Given the description of an element on the screen output the (x, y) to click on. 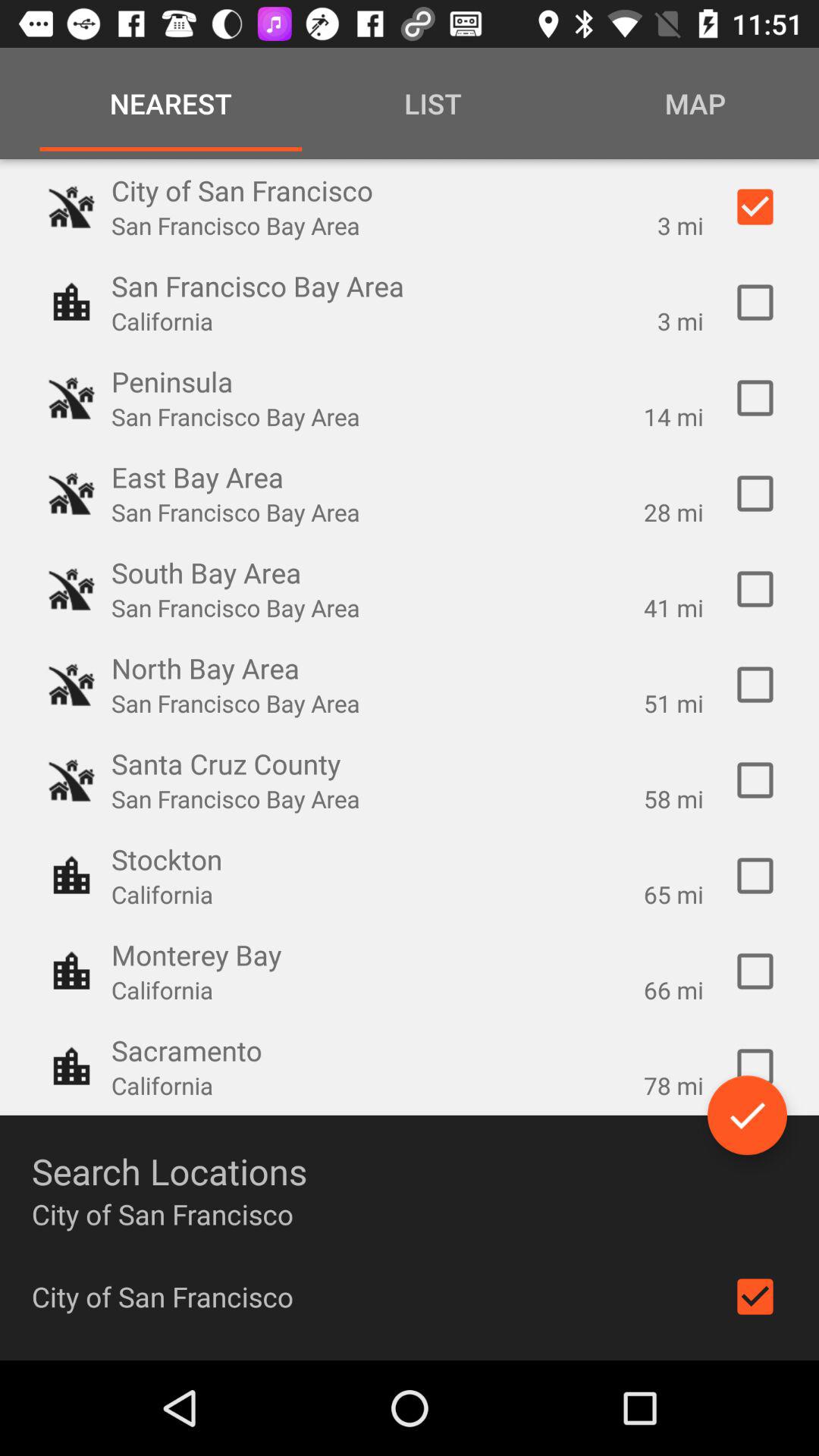
click on the list button (433, 103)
select the text map at the bottom (691, 103)
select the icon which is in 4th place from the top (71, 494)
go to the icon which is just beside the monterey bay (71, 971)
